Given the description of an element on the screen output the (x, y) to click on. 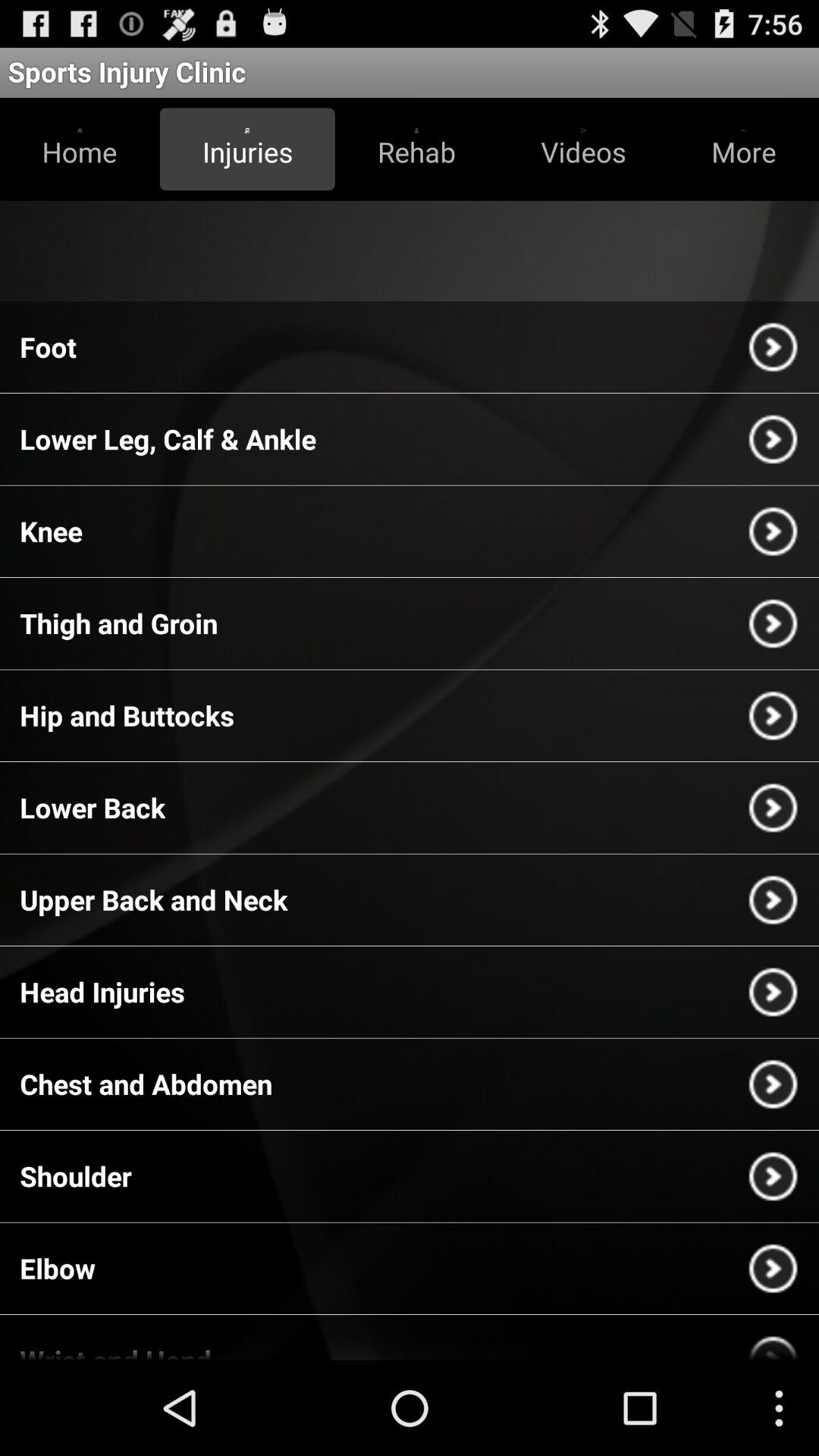
press the upper back and app (153, 899)
